Given the description of an element on the screen output the (x, y) to click on. 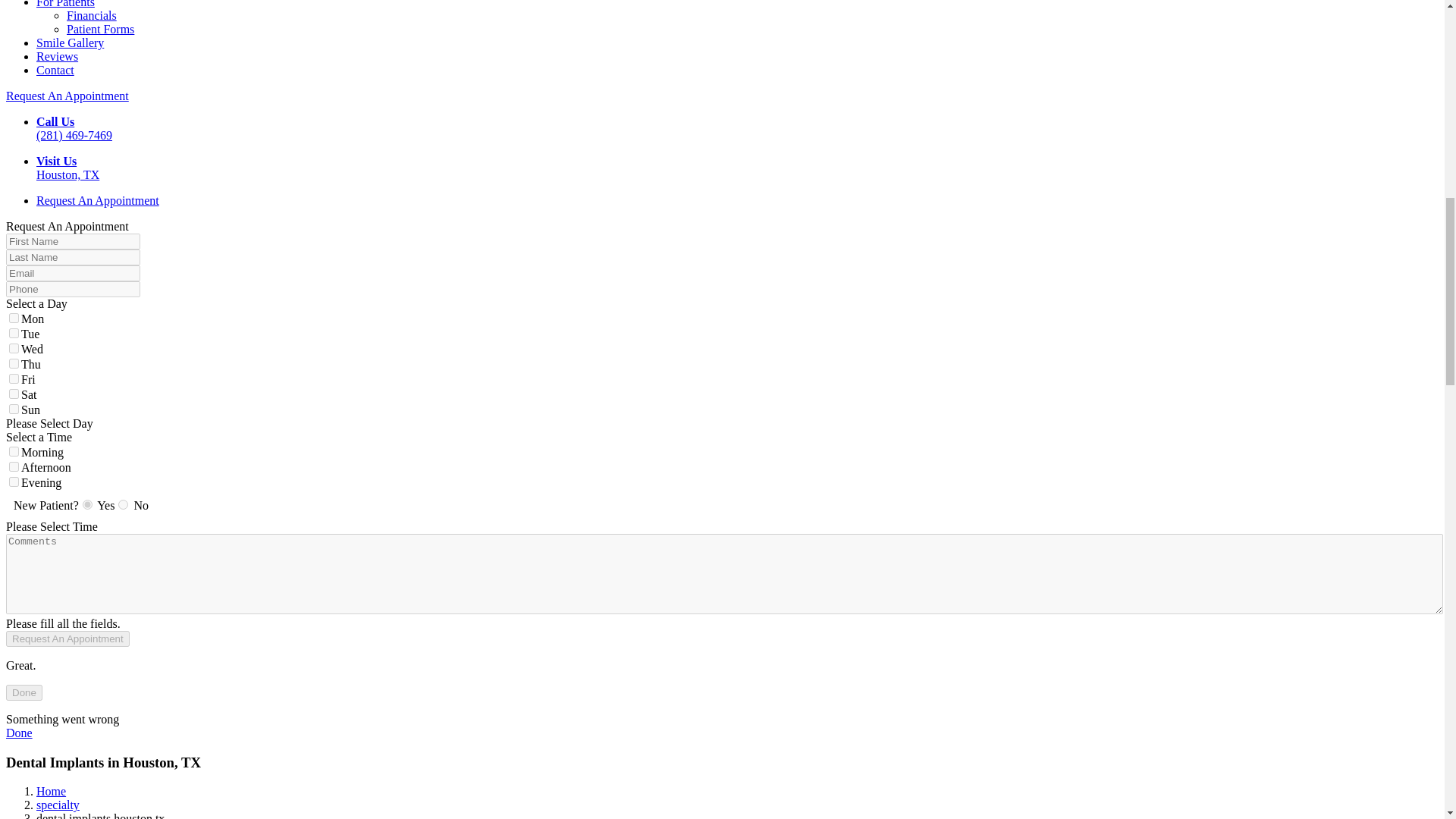
Saturday (13, 393)
Sunday (13, 409)
Afternoon (13, 466)
New Patient (87, 504)
Wednesday (13, 347)
Friday (13, 378)
Morning (13, 451)
Evening (13, 481)
Tuesday (13, 333)
Existing Patient (122, 504)
Thursday (13, 363)
Monday (13, 317)
